Given the description of an element on the screen output the (x, y) to click on. 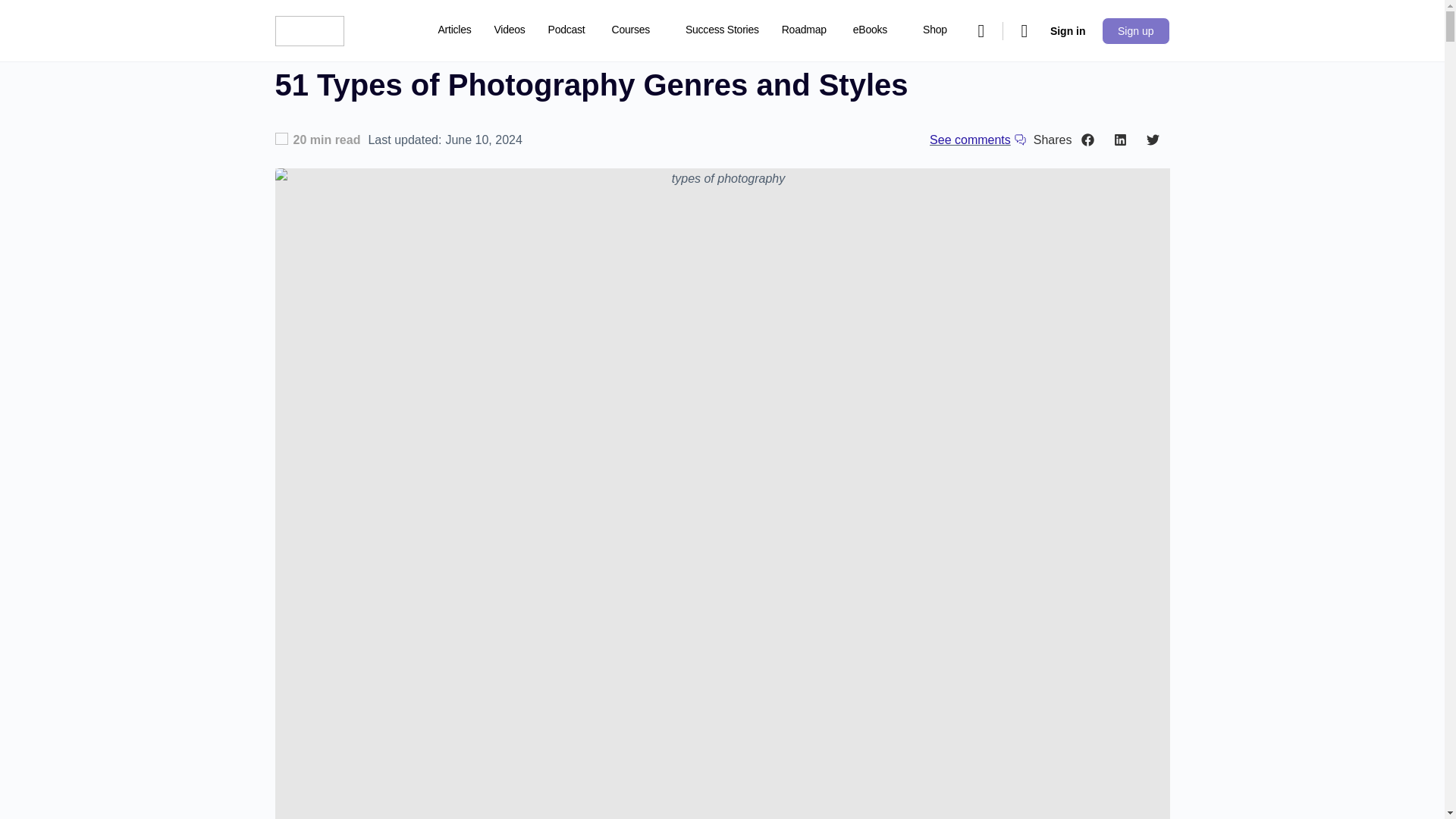
Courses (636, 30)
Sign in (1067, 30)
Roadmap (804, 30)
Success Stories (722, 30)
Sign up (1135, 30)
eBooks (876, 30)
Trend Report 2024 (480, 91)
